Given the description of an element on the screen output the (x, y) to click on. 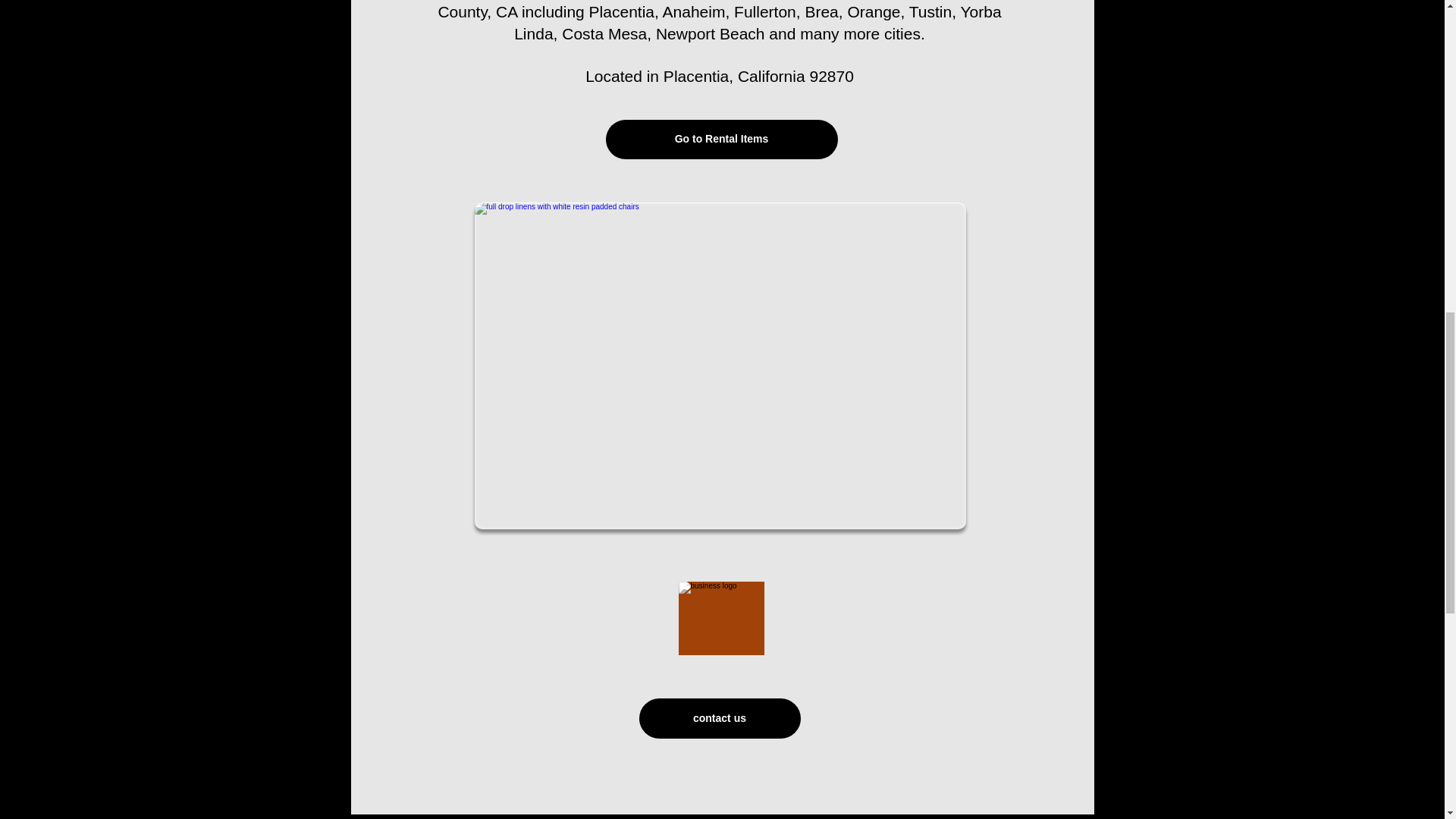
Go to Rental Items (721, 138)
contact us (719, 718)
pp logo.jpg (720, 618)
